Given the description of an element on the screen output the (x, y) to click on. 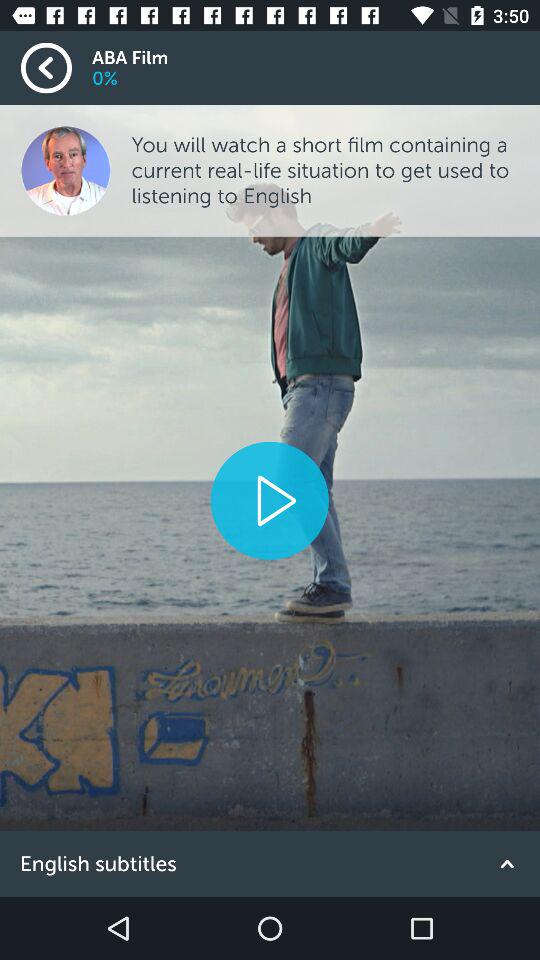
tap the icon below you will watch item (269, 500)
